Given the description of an element on the screen output the (x, y) to click on. 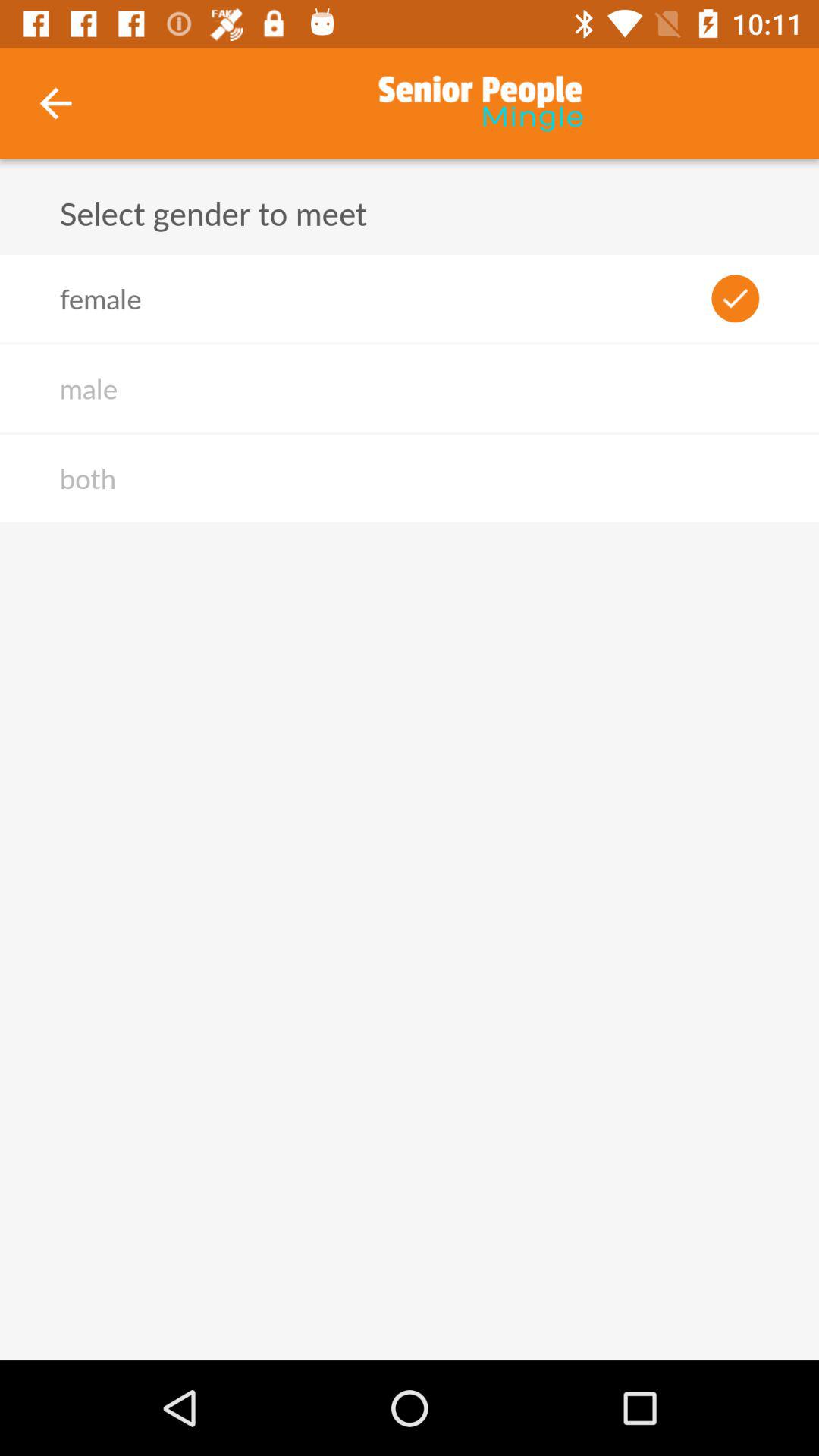
choose item below select gender to (100, 298)
